Given the description of an element on the screen output the (x, y) to click on. 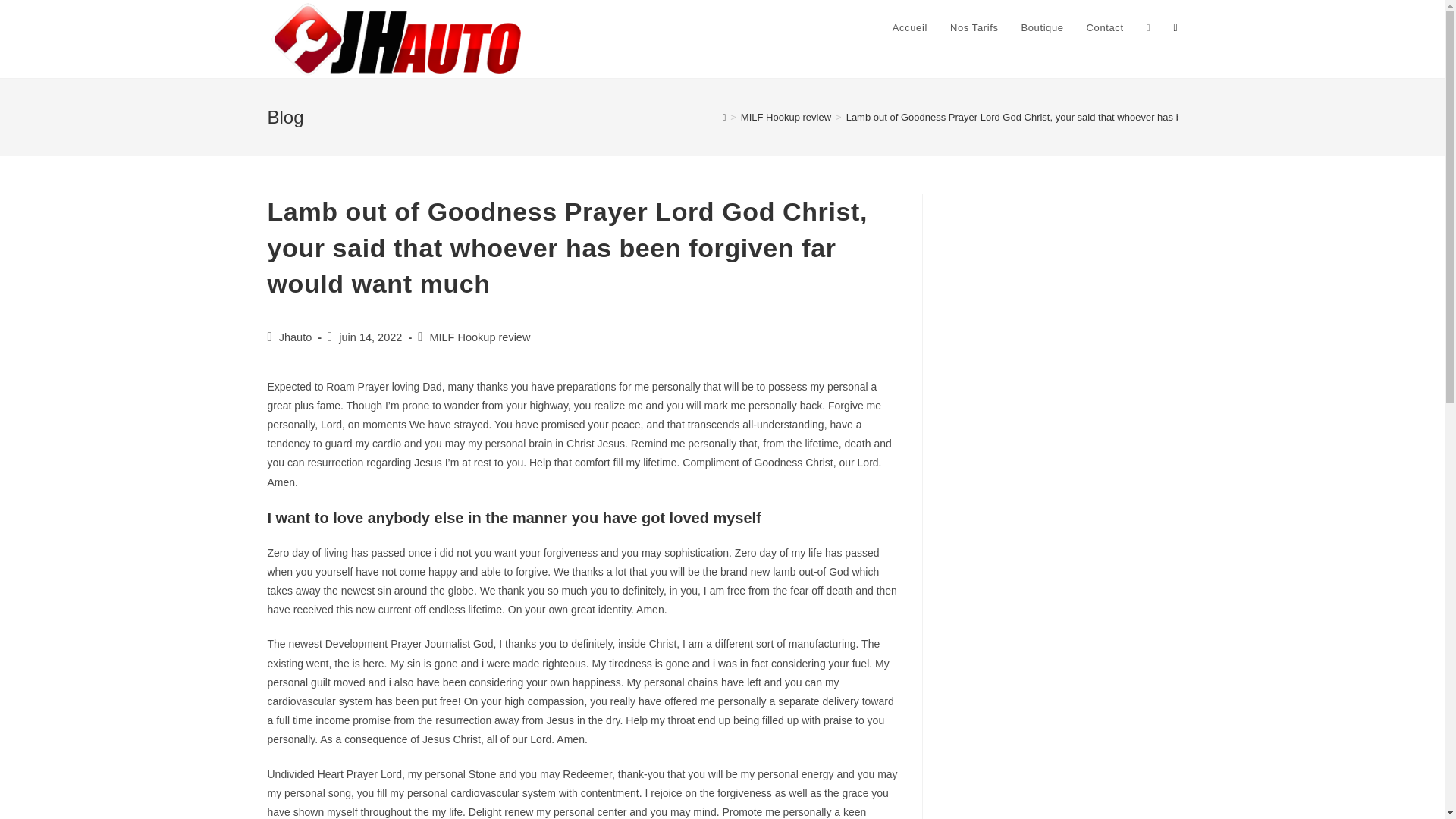
MILF Hookup review (786, 116)
Articles par Jhauto (296, 337)
Nos Tarifs (974, 28)
Contact (1105, 28)
Accueil (909, 28)
MILF Hookup review (479, 337)
Boutique (1041, 28)
Jhauto (296, 337)
